Given the description of an element on the screen output the (x, y) to click on. 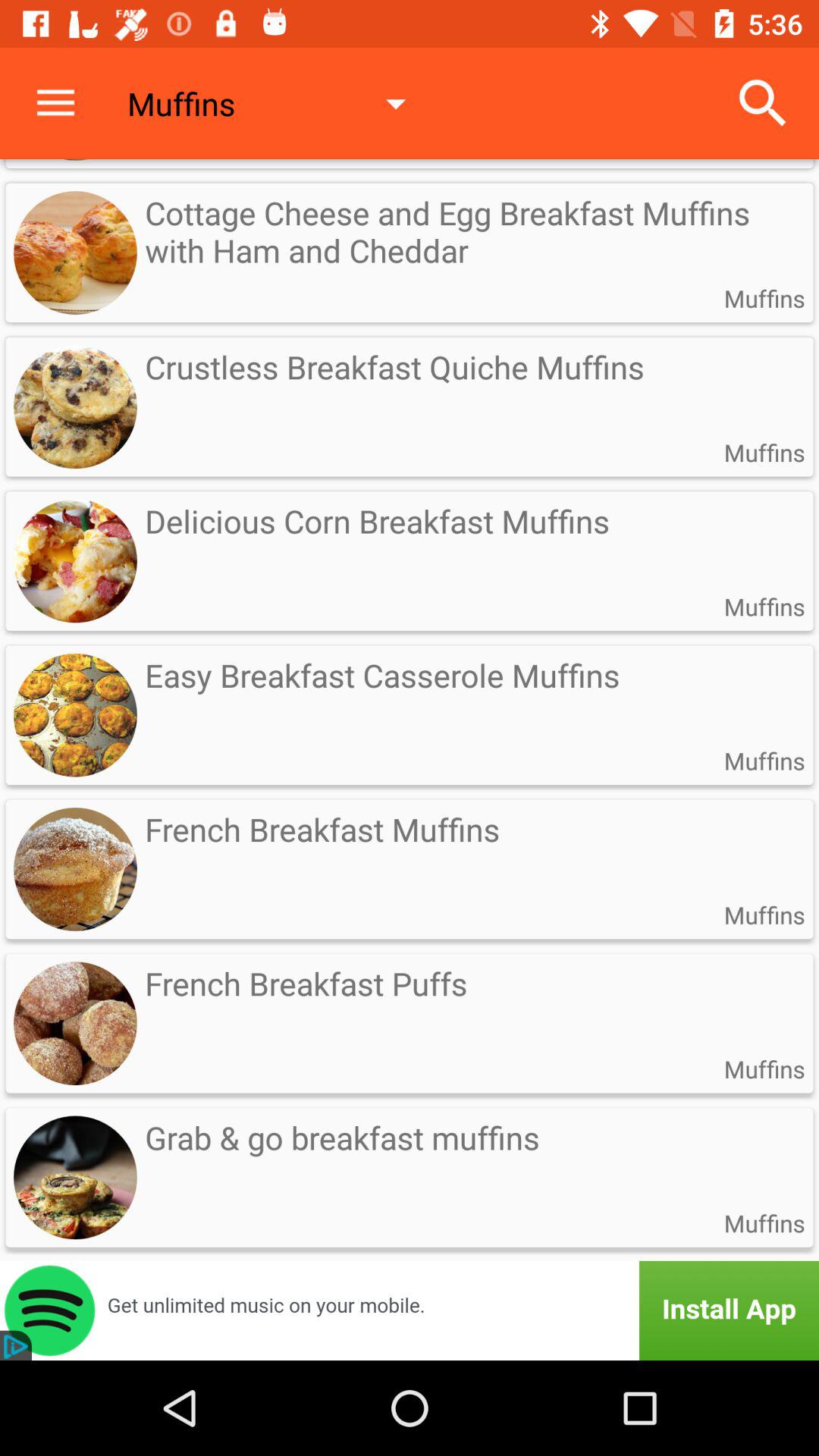
install app (409, 1310)
